Given the description of an element on the screen output the (x, y) to click on. 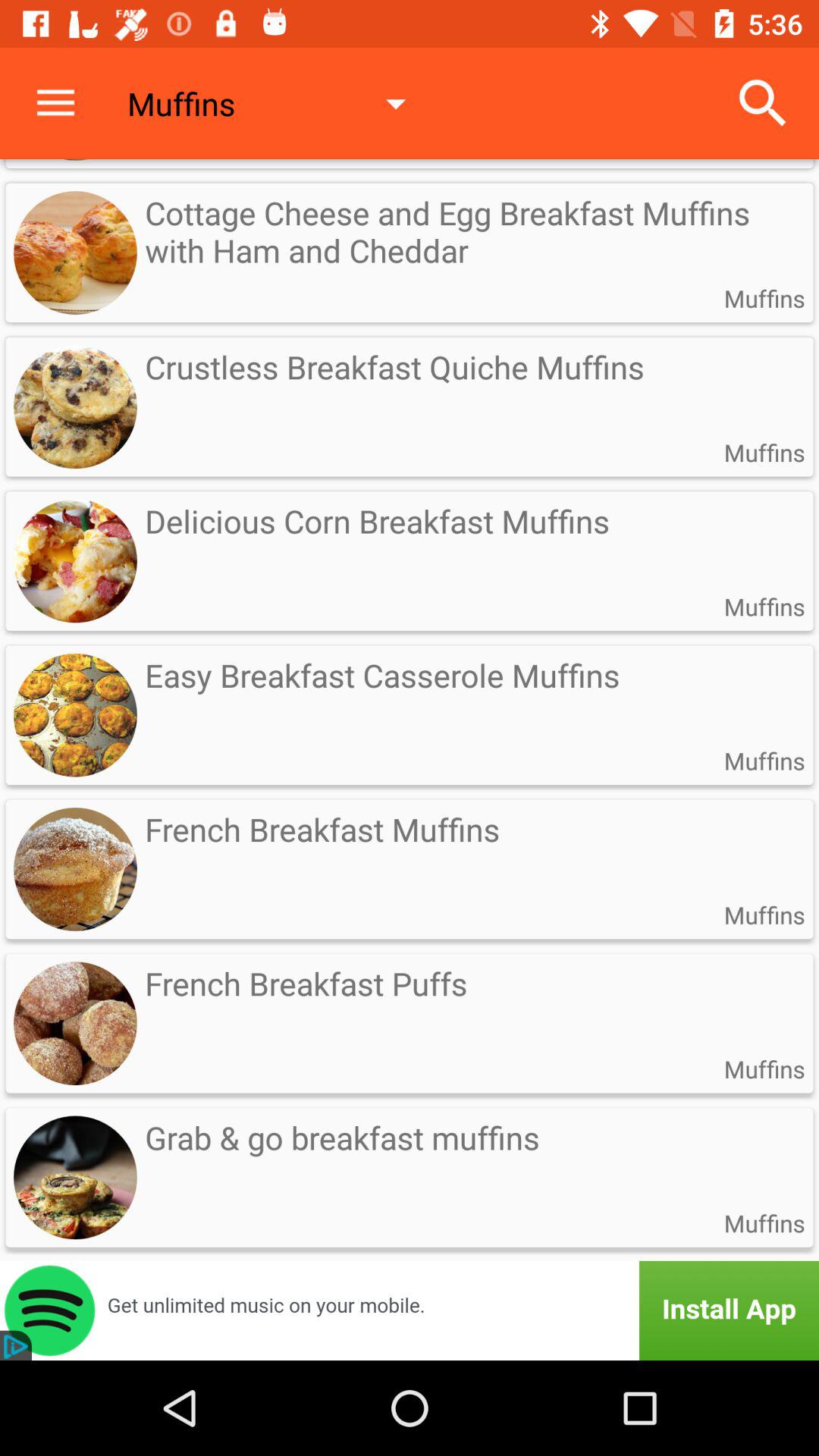
install app (409, 1310)
